Given the description of an element on the screen output the (x, y) to click on. 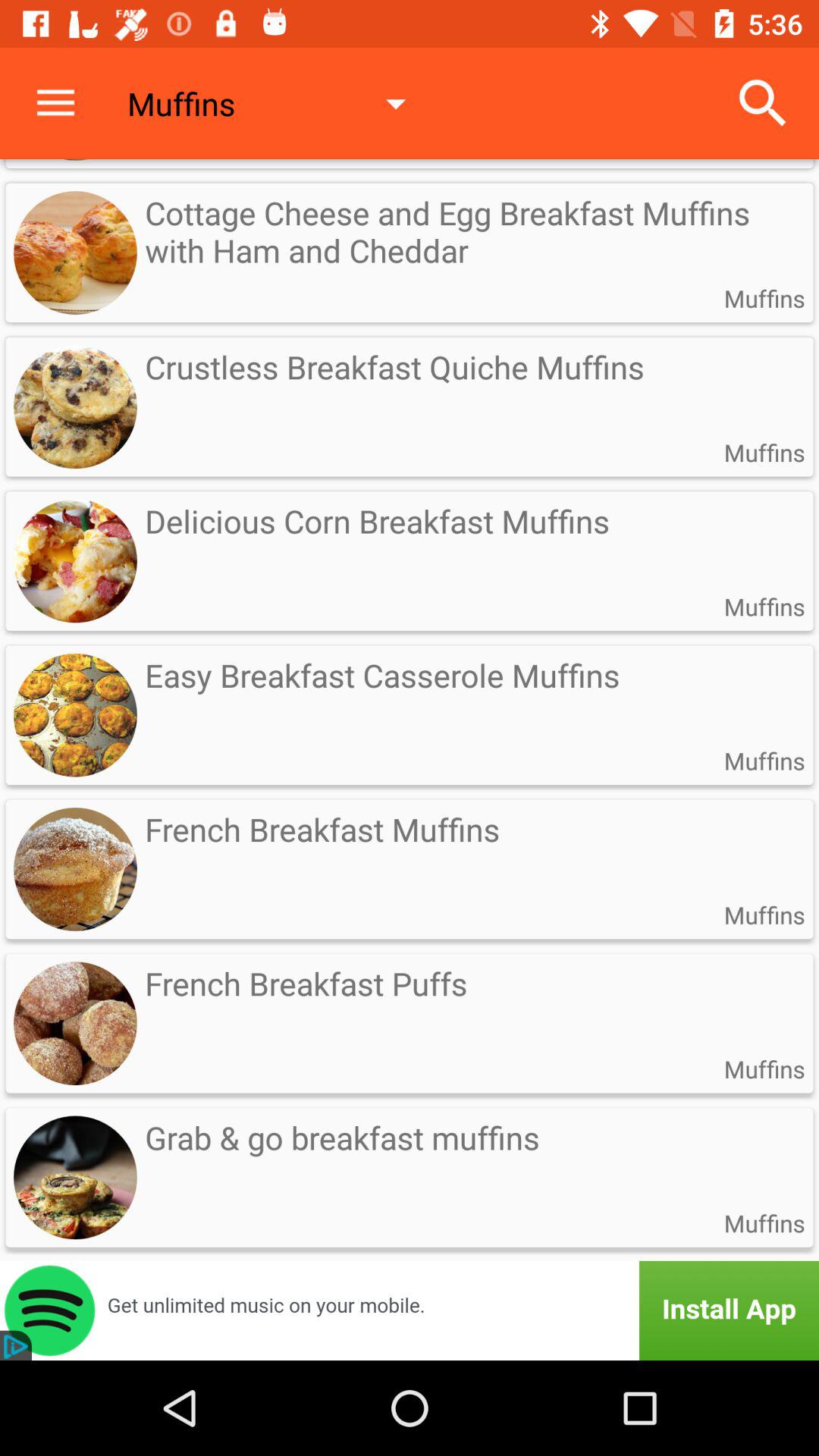
install app (409, 1310)
